Given the description of an element on the screen output the (x, y) to click on. 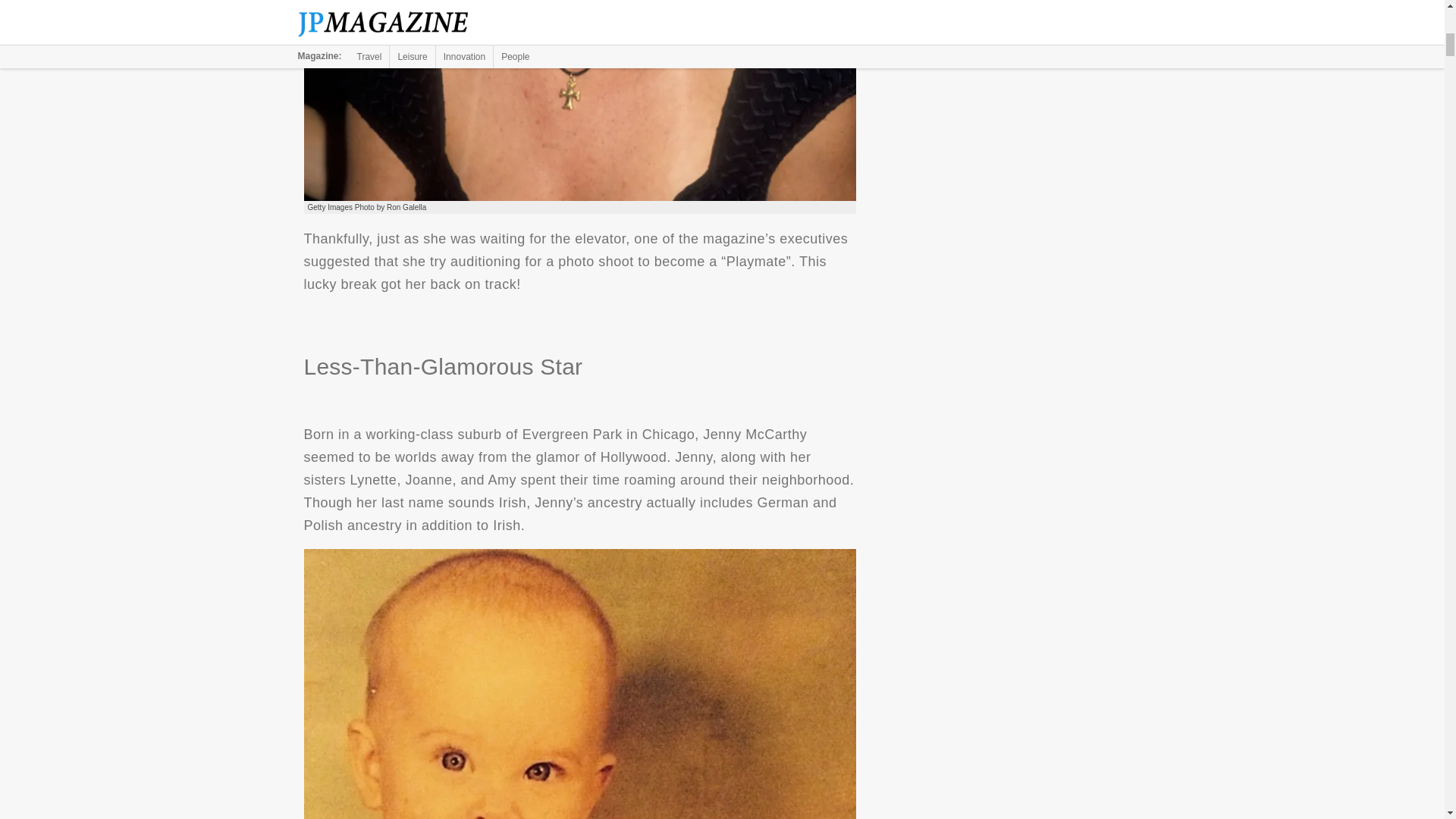
Nothing Can Stop Her Now (579, 100)
